Given the description of an element on the screen output the (x, y) to click on. 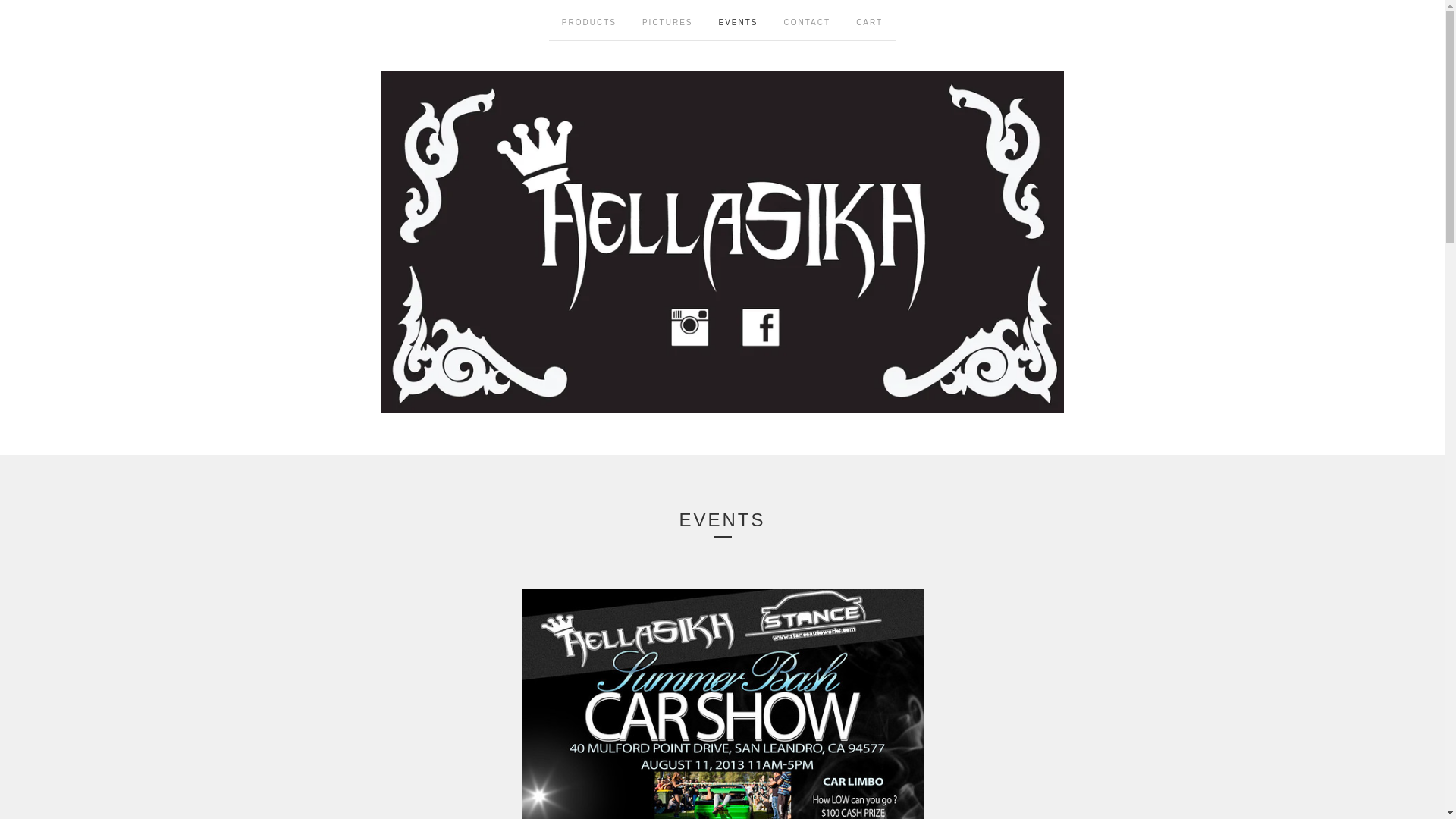
PICTURES (667, 20)
EVENTS (738, 20)
CART (869, 20)
View Pictures (667, 20)
Hellasikh Car Show by hellasikh, on Flickr (722, 703)
PRODUCTS (588, 20)
View Events (738, 20)
CONTACT (807, 20)
